Given the description of an element on the screen output the (x, y) to click on. 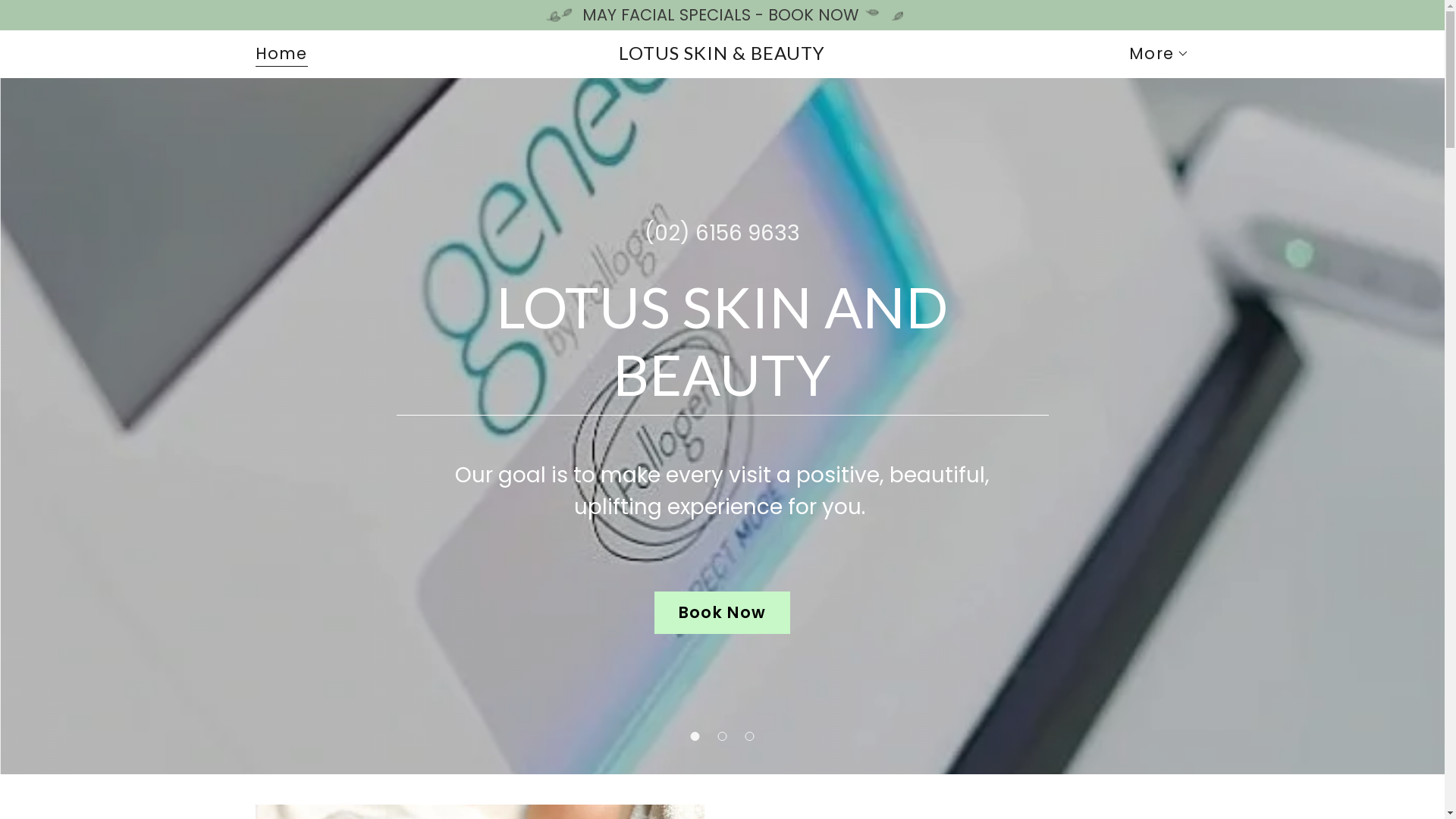
LOTUS SKIN & BEAUTY Element type: text (722, 53)
MAY FACIAL SPECIALS - BOOK NOW Element type: text (722, 15)
Home Element type: text (280, 55)
More Element type: text (1159, 53)
Book Now Element type: text (722, 612)
(02) 6156 9633 Element type: text (722, 232)
